Given the description of an element on the screen output the (x, y) to click on. 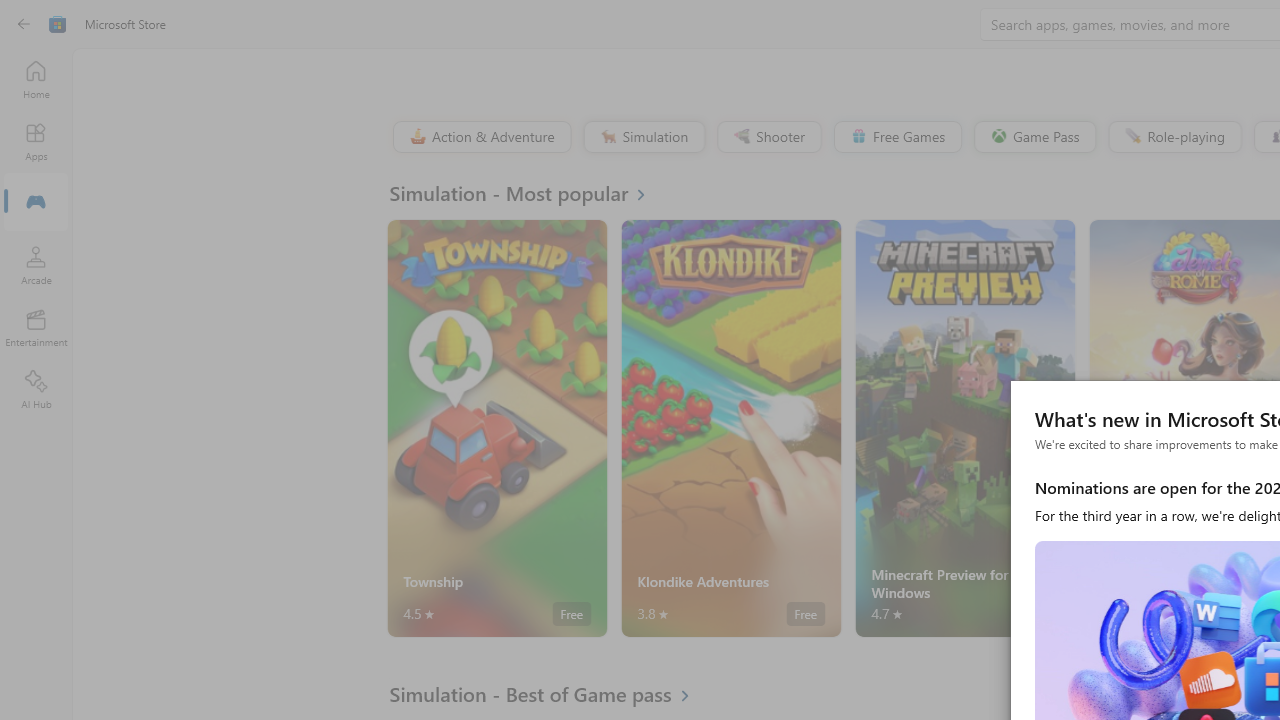
Back (24, 24)
Action & Adventure (480, 136)
See all  Simulation - Best of Game pass (551, 693)
